Given the description of an element on the screen output the (x, y) to click on. 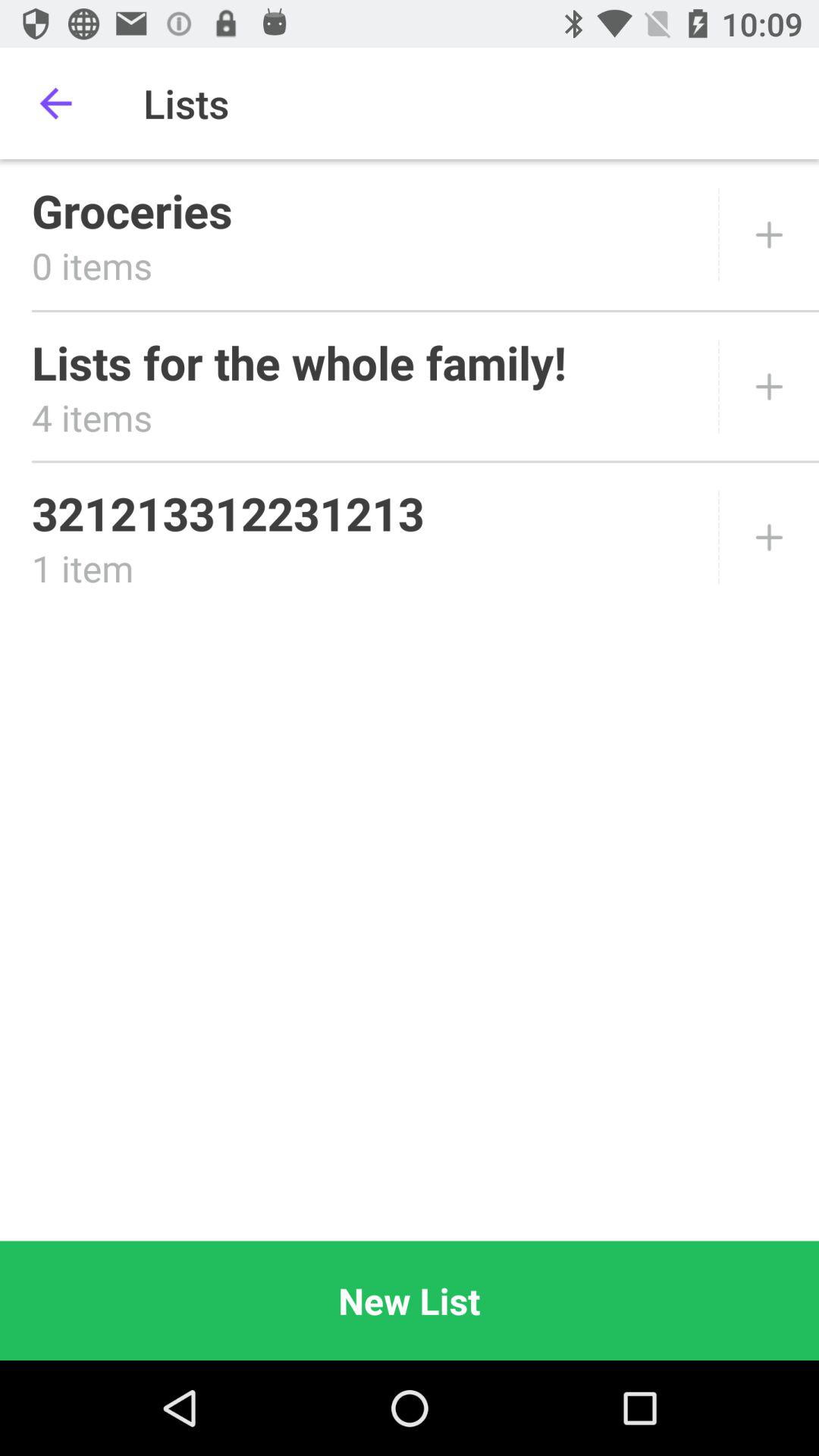
open item above the groceries (55, 103)
